Given the description of an element on the screen output the (x, y) to click on. 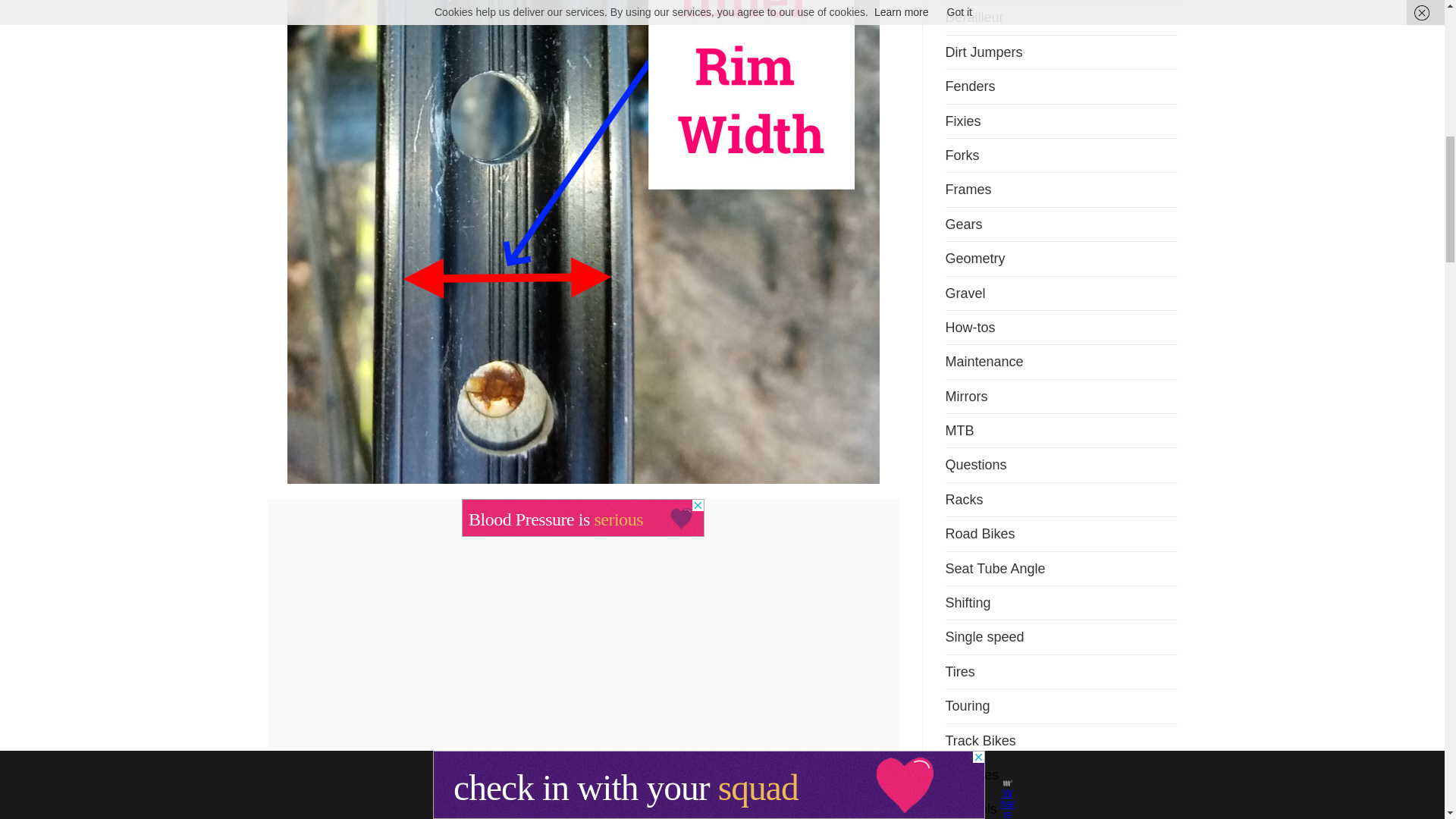
3rd party ad content (582, 517)
